Given the description of an element on the screen output the (x, y) to click on. 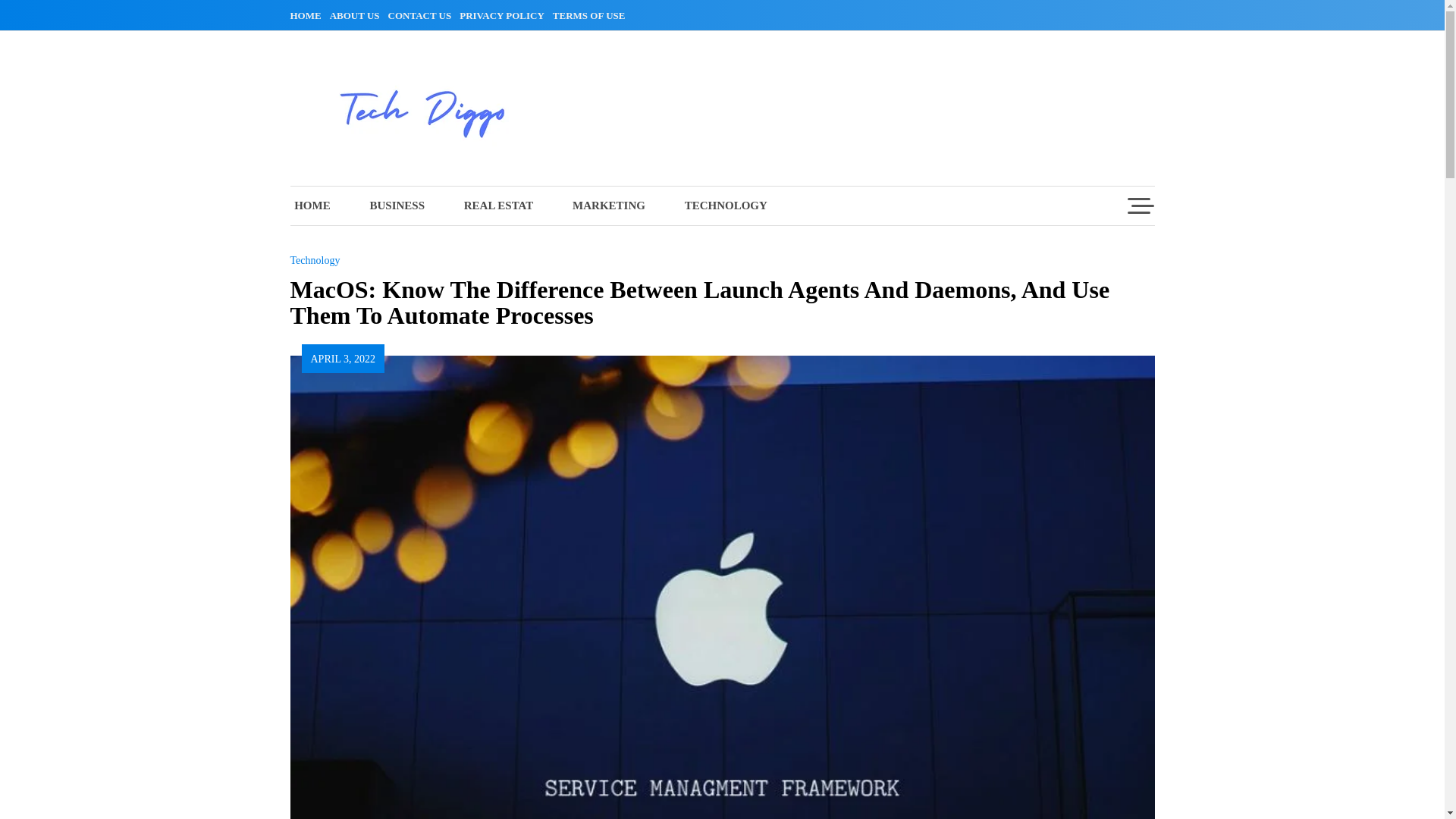
REAL ESTAT (498, 205)
MARKETING (608, 205)
Technology (314, 260)
APRIL 3, 2022 (343, 358)
BUSINESS (396, 205)
CONTACT US (422, 15)
TERMS OF USE (591, 15)
HOME (307, 15)
TECHNOLOGY (726, 205)
ABOUT US (357, 15)
